Given the description of an element on the screen output the (x, y) to click on. 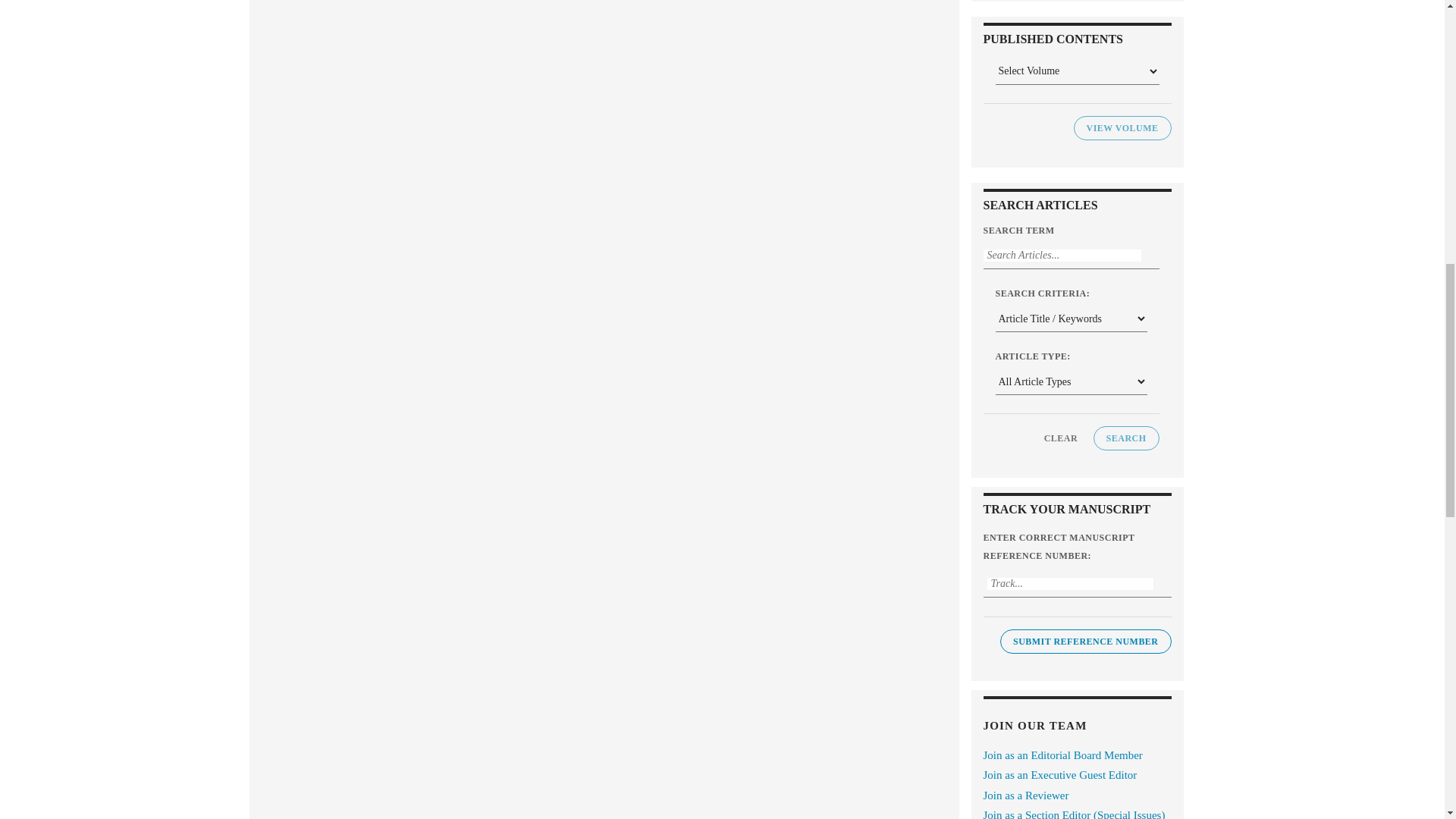
View Volume (1123, 128)
